Given the description of an element on the screen output the (x, y) to click on. 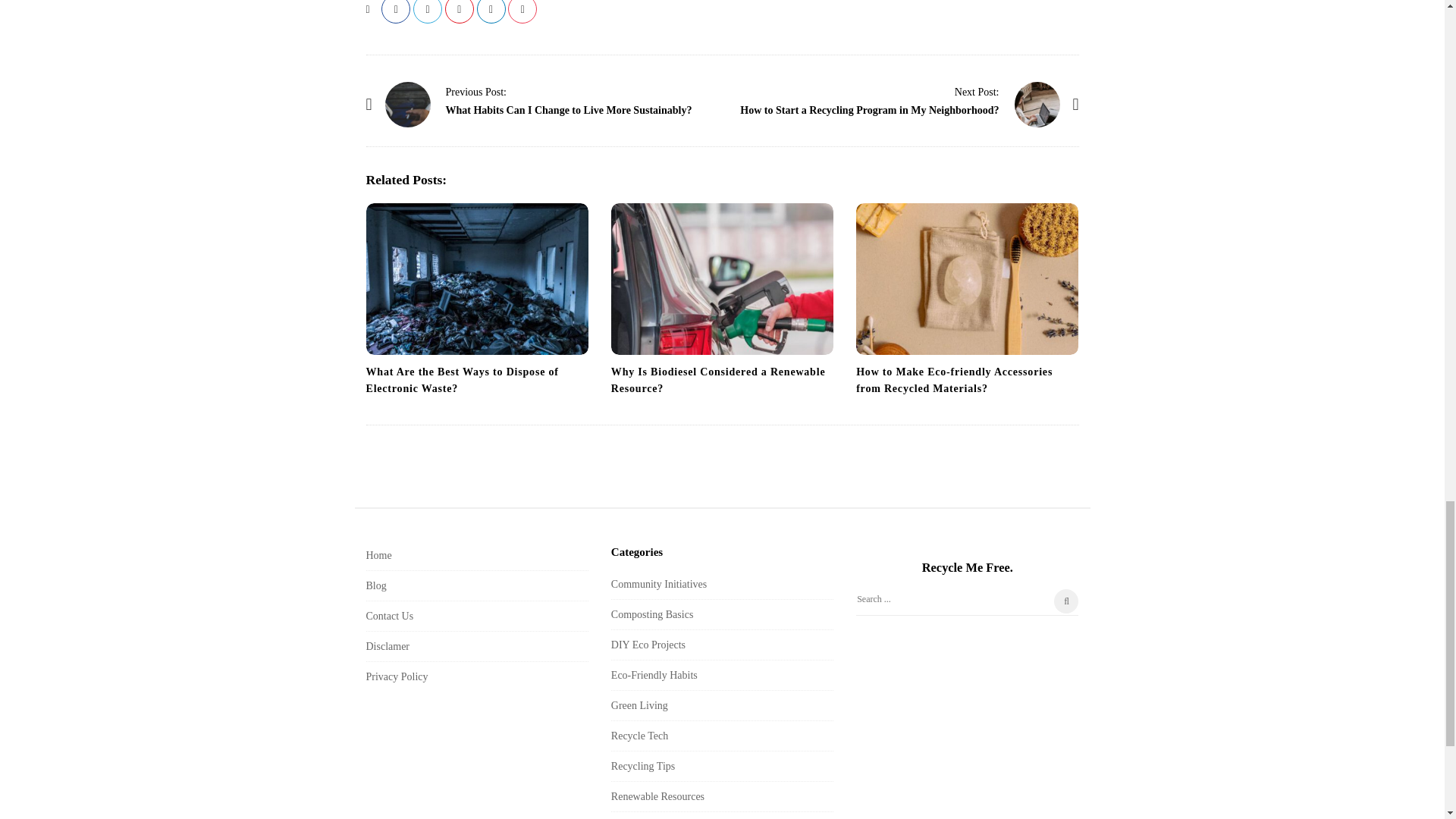
Green Living (639, 705)
What Are the Best Ways to Dispose of Electronic Waste? (461, 379)
What Are the Best Ways to Dispose of Electronic Waste? (461, 379)
Why Is Biodiesel Considered a Renewable Resource? (721, 278)
Contact Us (389, 615)
What Habits Can I Change to Live More Sustainably? (569, 110)
What Are the Best Ways to Dispose of Electronic Waste? (476, 278)
DIY Eco Projects (648, 644)
Why Is Biodiesel Considered a Renewable Resource? (718, 379)
